Given the description of an element on the screen output the (x, y) to click on. 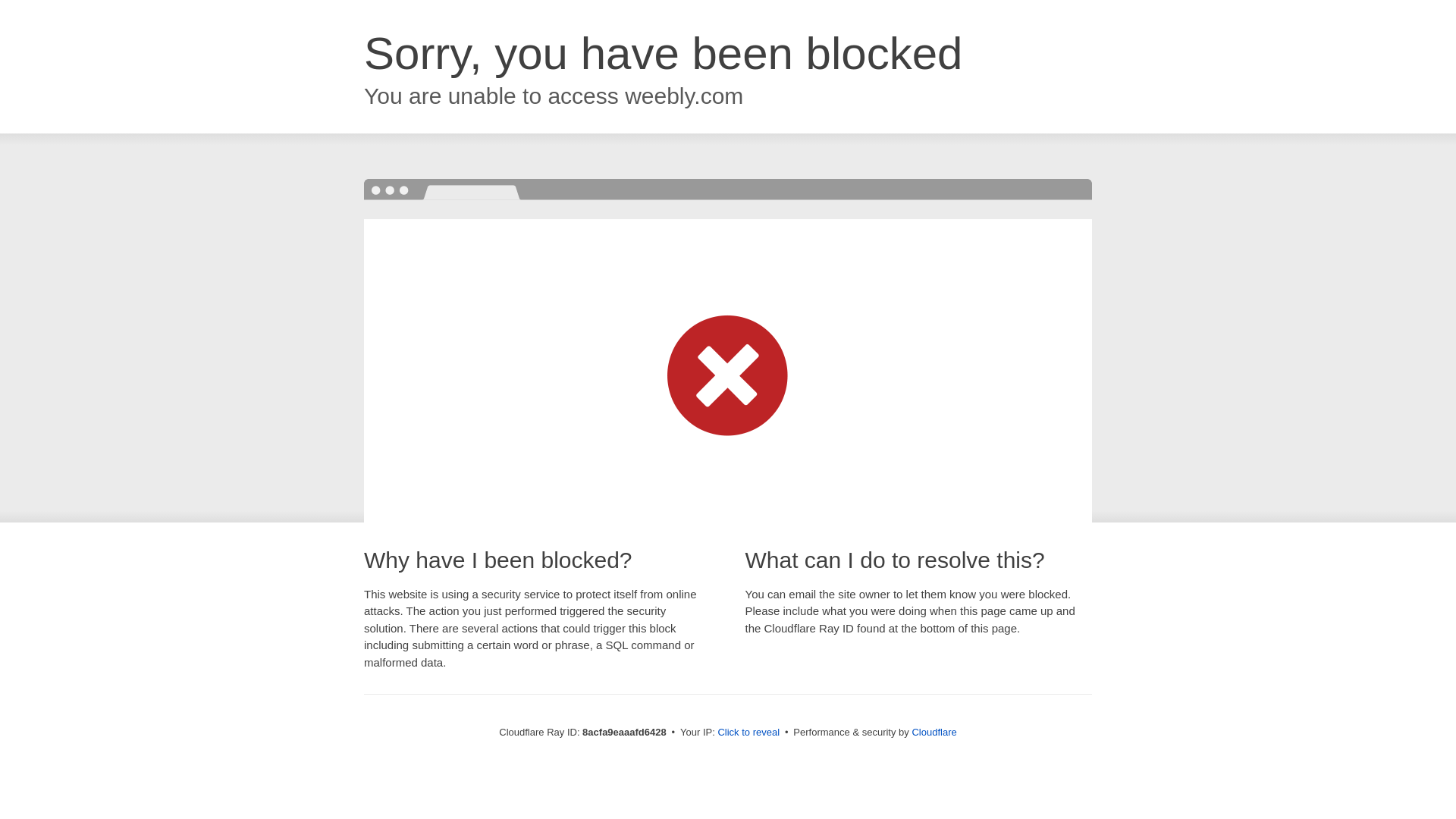
Click to reveal (747, 732)
Cloudflare (933, 731)
